Given the description of an element on the screen output the (x, y) to click on. 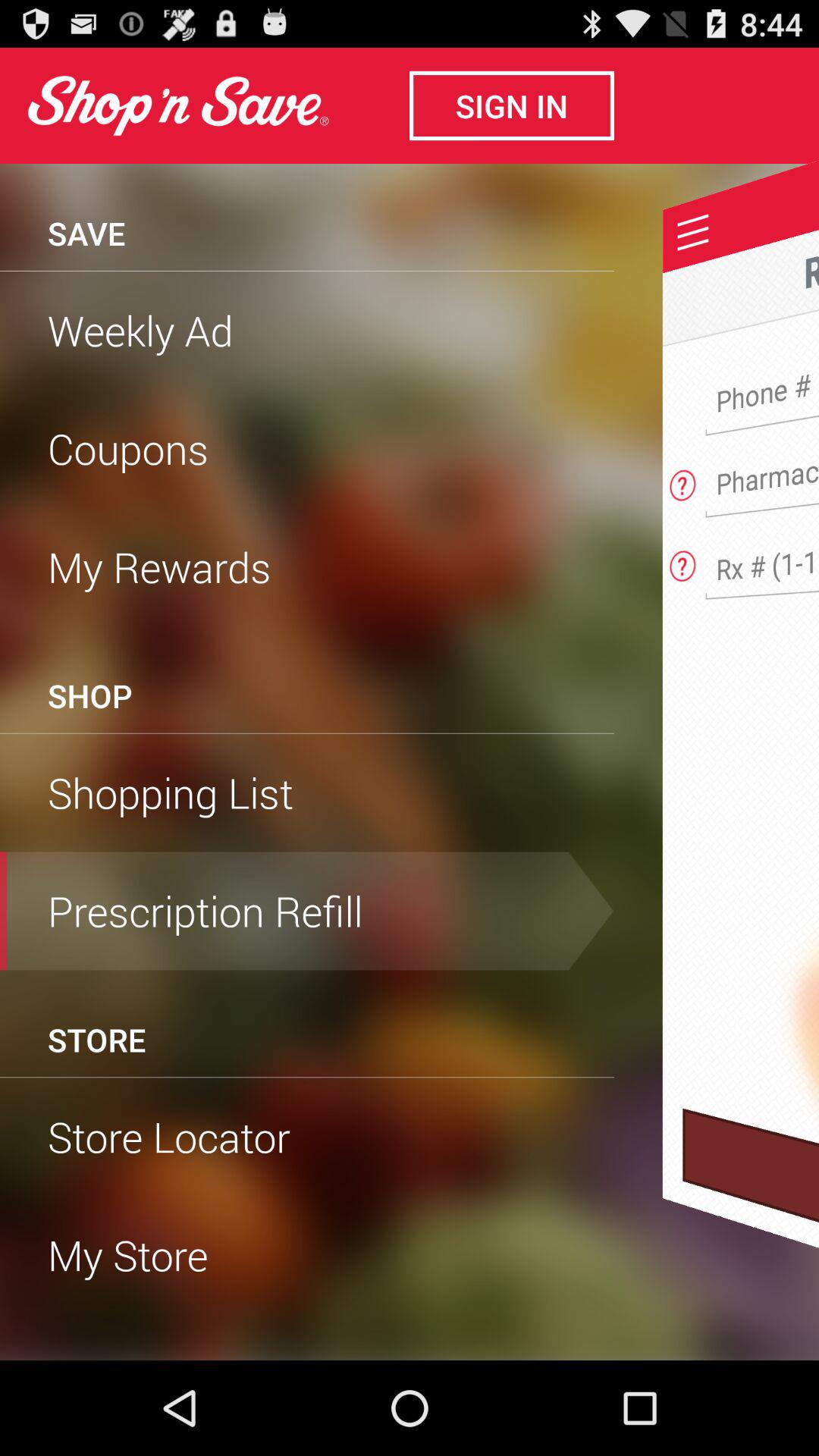
select menu option (692, 231)
